Given the description of an element on the screen output the (x, y) to click on. 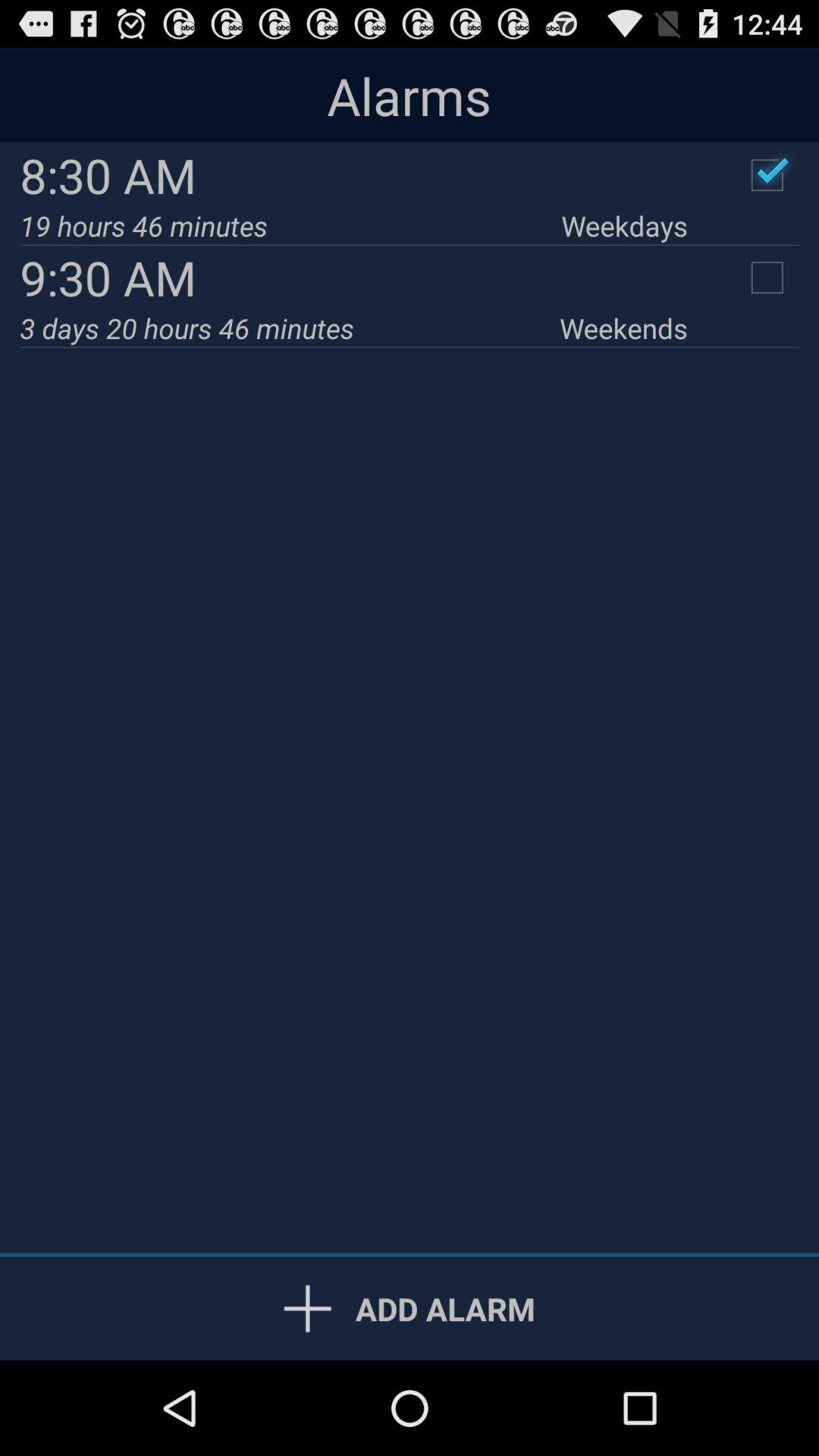
tap 3 days 20 app (289, 327)
